Given the description of an element on the screen output the (x, y) to click on. 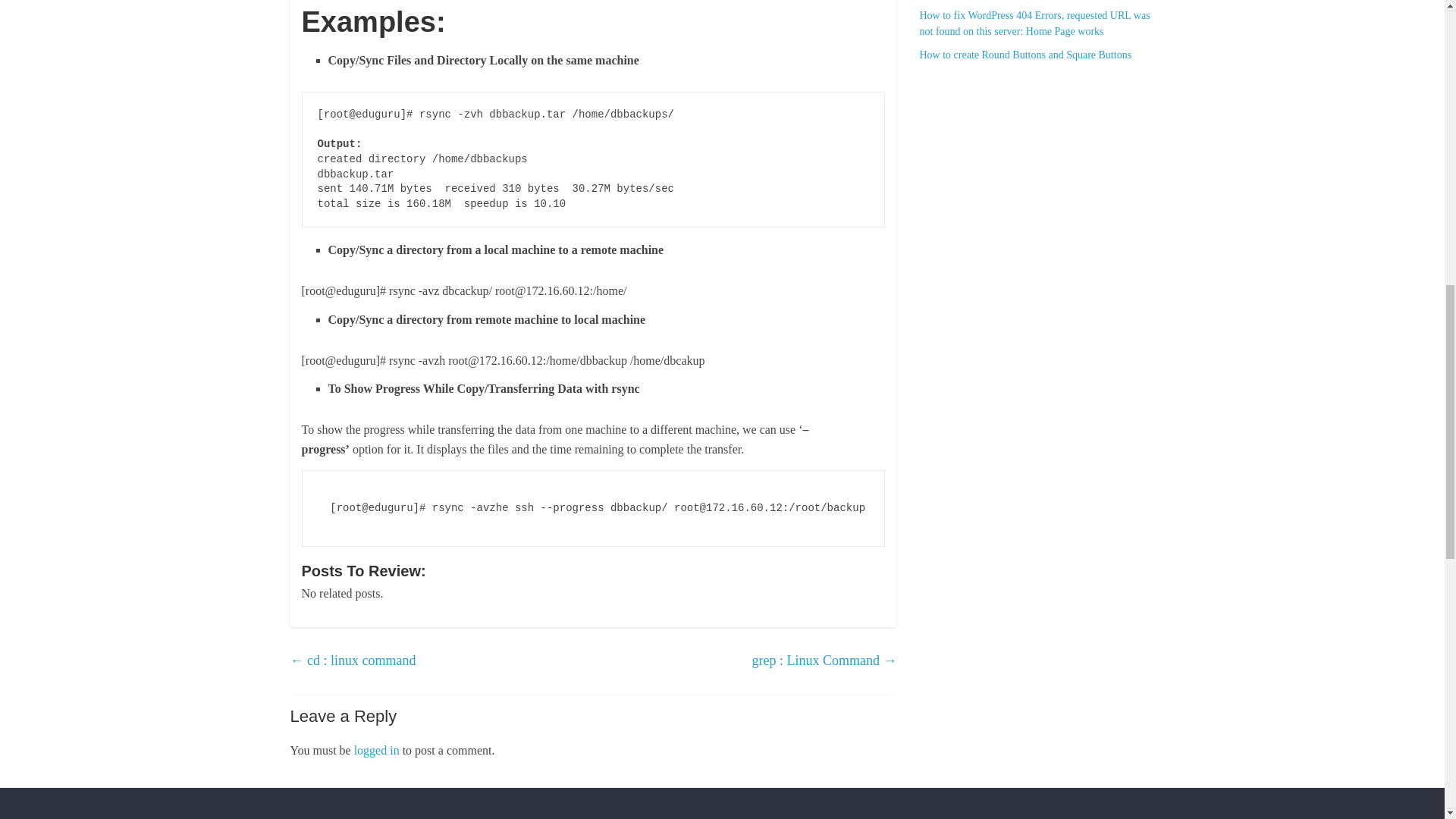
logged in (375, 749)
